Given the description of an element on the screen output the (x, y) to click on. 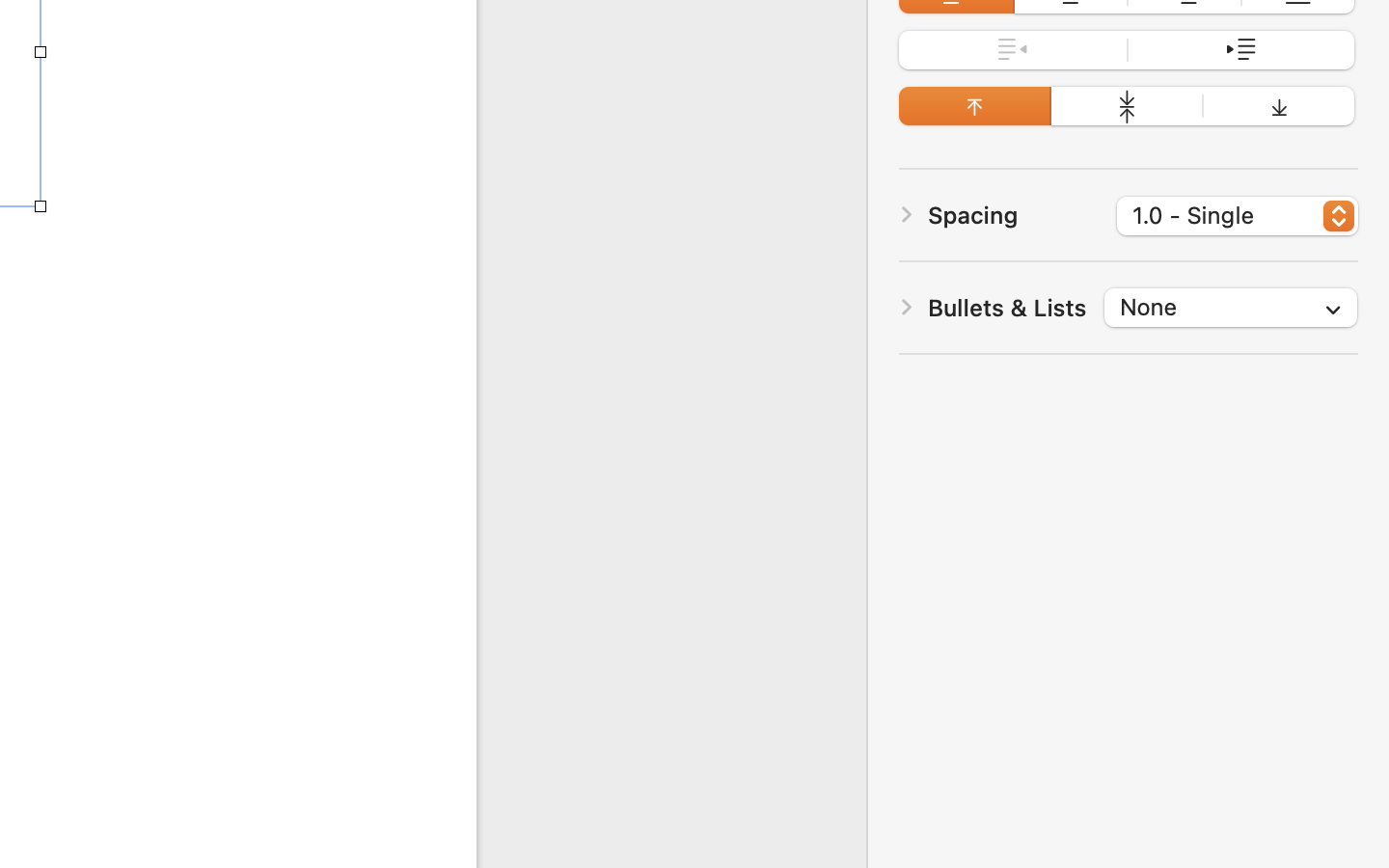
Spacing Element type: AXStaticText (973, 214)
